Given the description of an element on the screen output the (x, y) to click on. 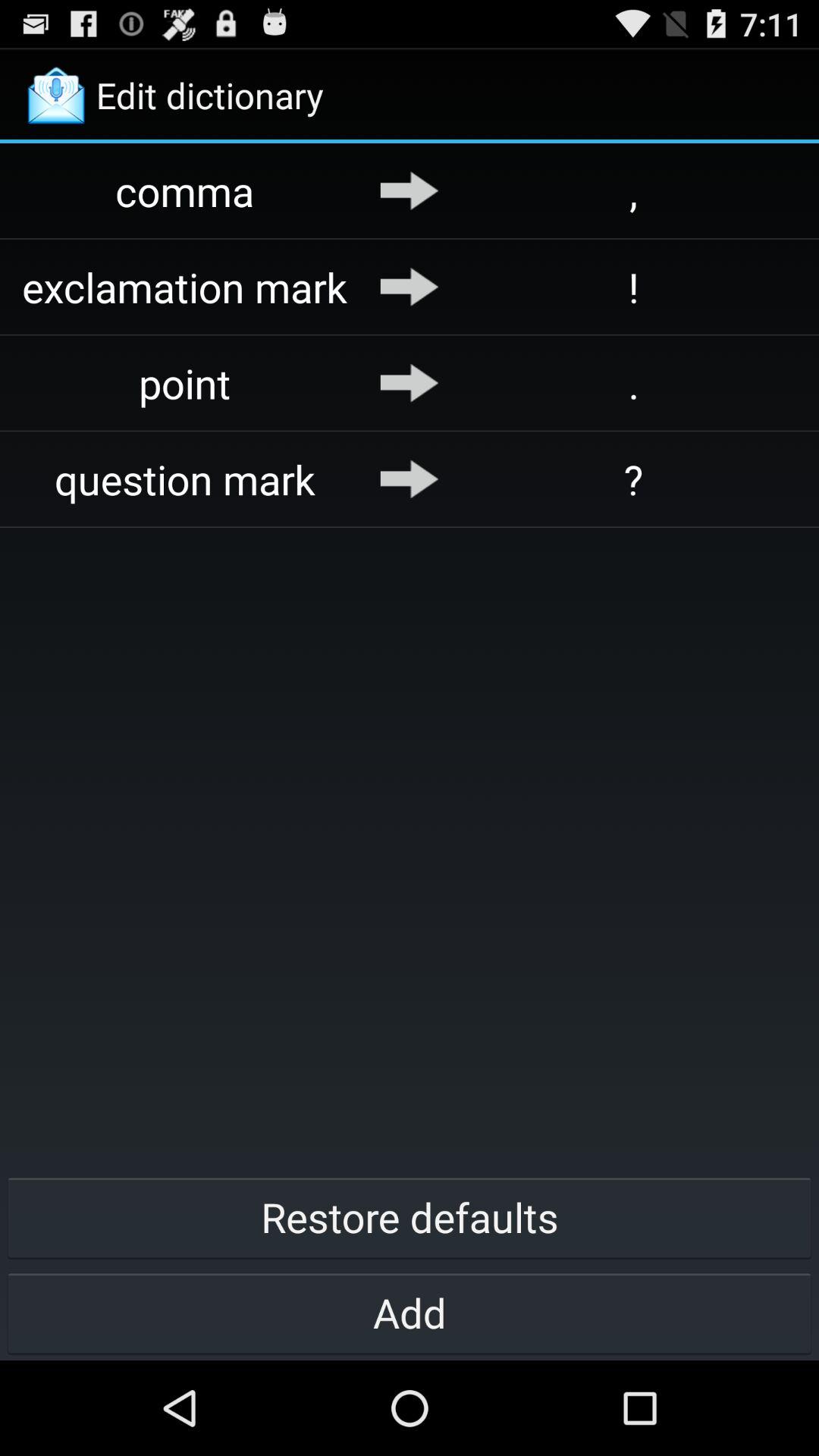
turn off icon below ! app (633, 382)
